Given the description of an element on the screen output the (x, y) to click on. 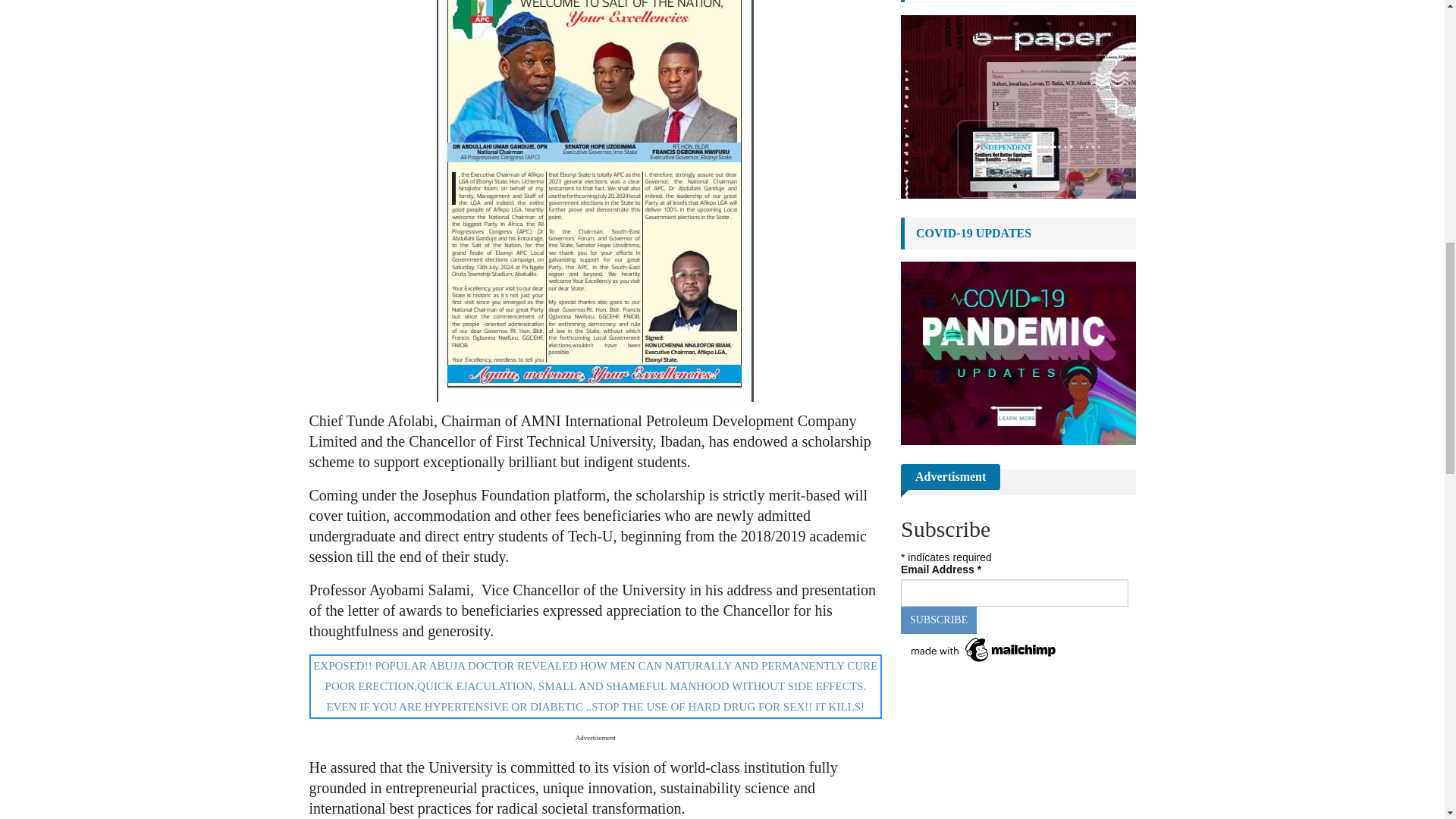
Subscribe (938, 619)
